Given the description of an element on the screen output the (x, y) to click on. 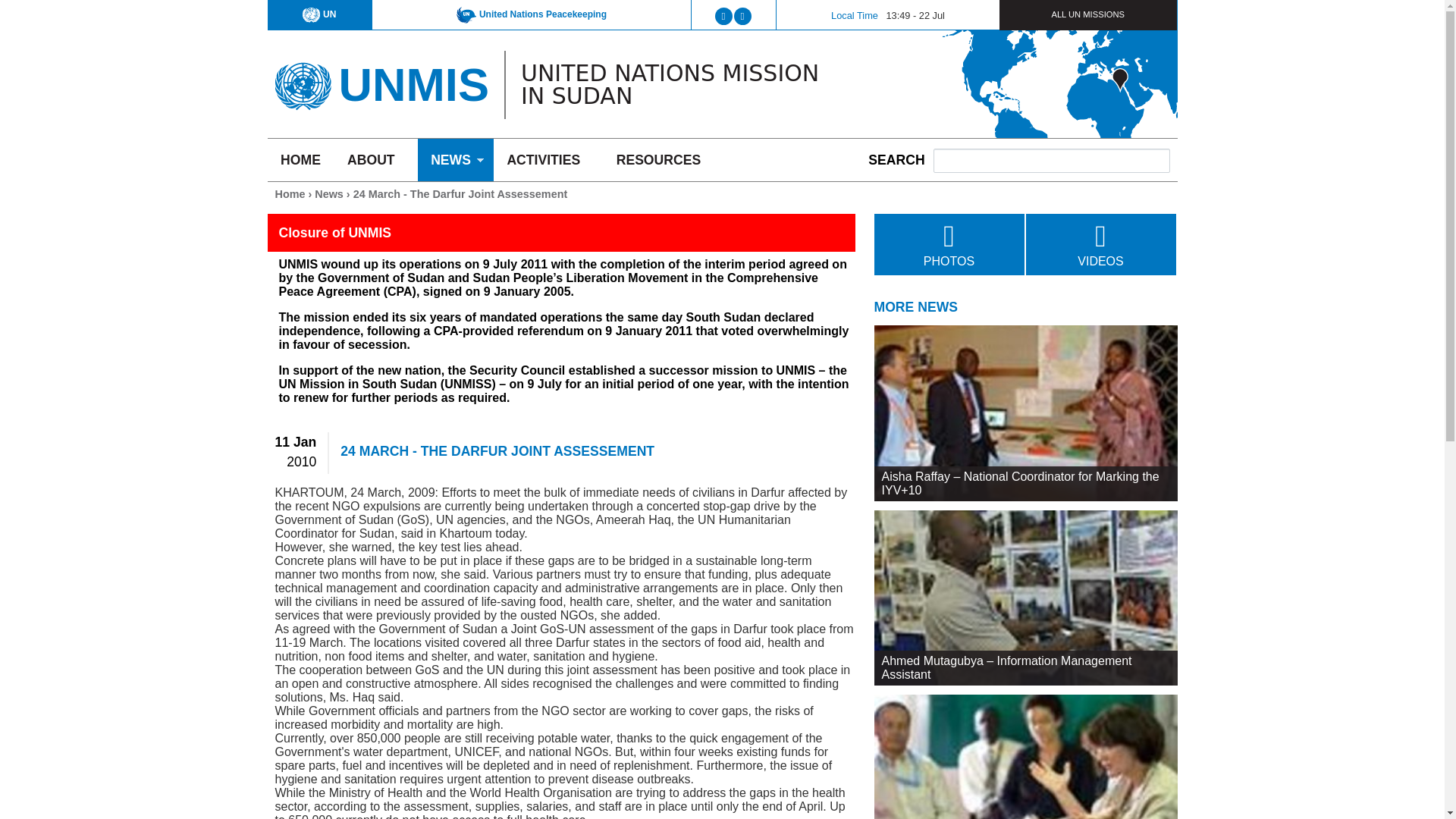
Home (412, 84)
Home (301, 80)
United Nations Peacekeeping (532, 14)
UNMIS (412, 84)
UN (319, 14)
ALL UN MISSIONS (1087, 13)
HOME (299, 159)
Enter the terms you wish to search for. (1051, 160)
